Given the description of an element on the screen output the (x, y) to click on. 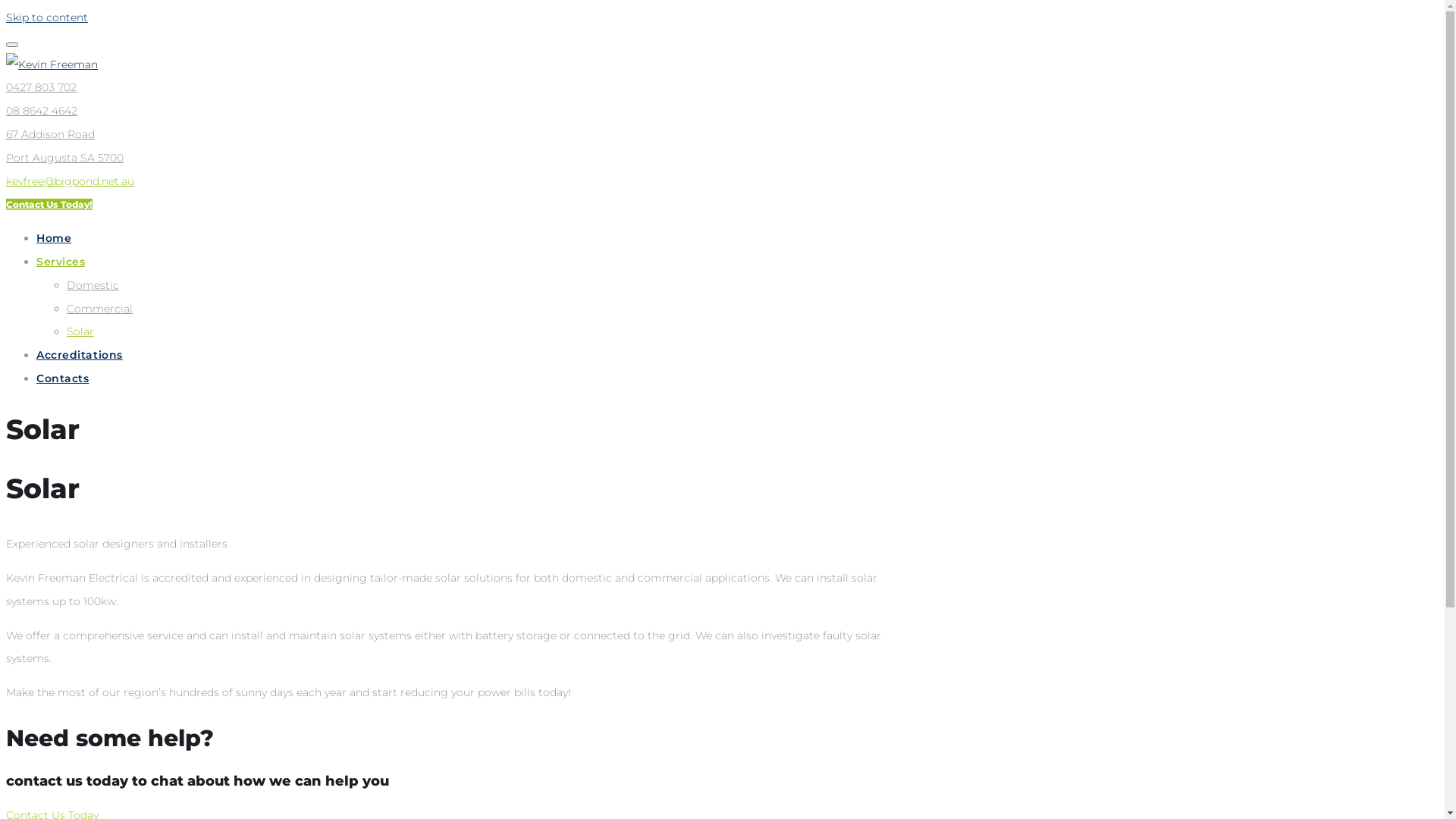
kevfree@bigpond.net.au Element type: text (70, 181)
67 Addison Road
Port Augusta SA 5700 Element type: text (64, 145)
Skip to content Element type: text (46, 17)
Accreditations Element type: text (79, 354)
Home Element type: text (53, 237)
Solar Element type: text (80, 331)
Commercial Element type: text (99, 308)
0427 803 702 Element type: text (41, 87)
Contact Us Today! Element type: text (49, 204)
Domestic Element type: text (92, 284)
08 8642 4642 Element type: text (41, 110)
Services Element type: text (60, 261)
Contacts Element type: text (62, 378)
